Given the description of an element on the screen output the (x, y) to click on. 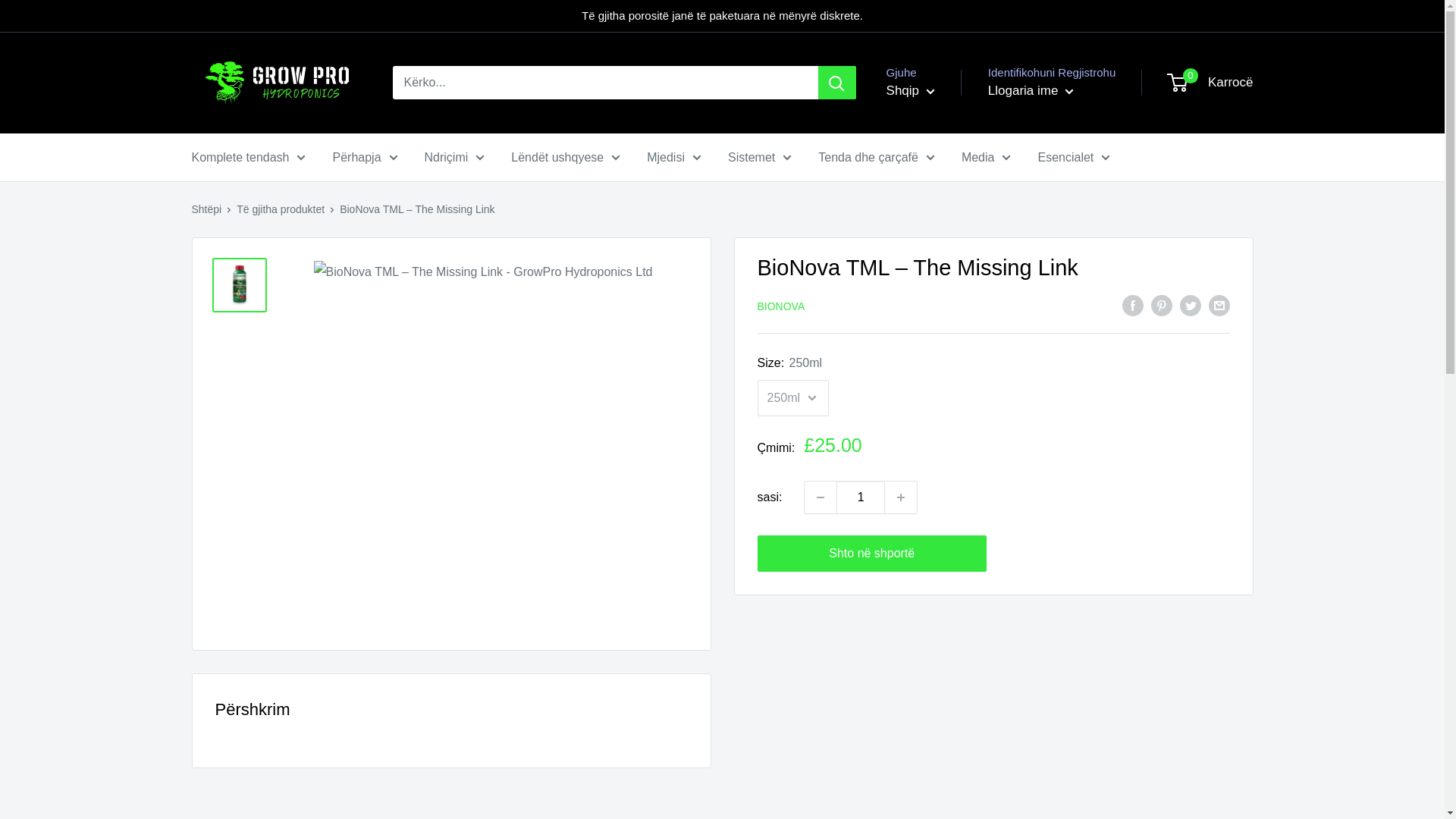
1 (860, 497)
